Given the description of an element on the screen output the (x, y) to click on. 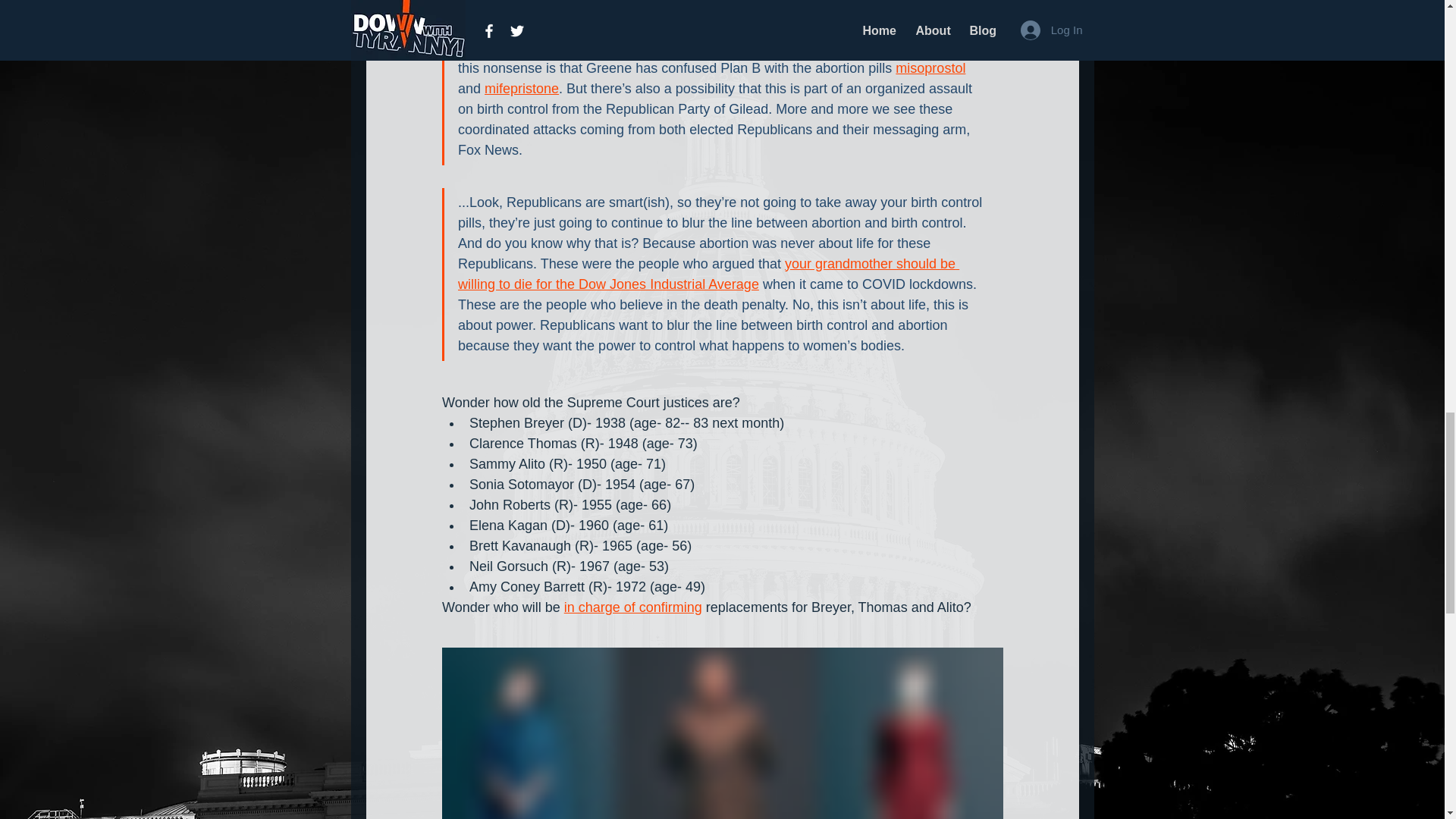
mifepristone (521, 87)
misoprostol (930, 68)
in charge of confirming (632, 606)
